Given the description of an element on the screen output the (x, y) to click on. 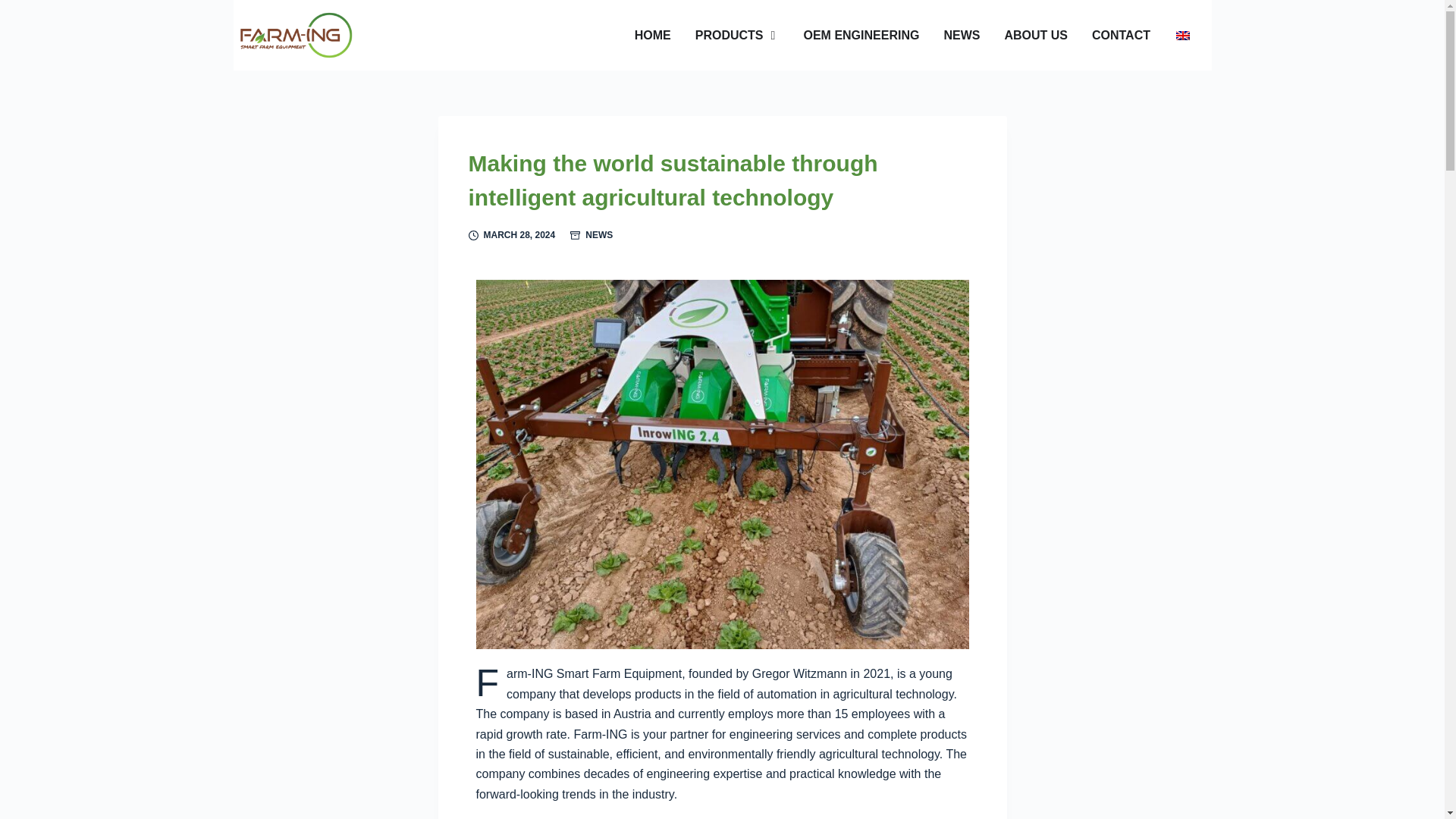
NEWS (961, 35)
Skip to content (15, 7)
NEWS (598, 235)
OEM ENGINEERING (861, 35)
ABOUT US (1035, 35)
CONTACT (1121, 35)
HOME (652, 35)
